Given the description of an element on the screen output the (x, y) to click on. 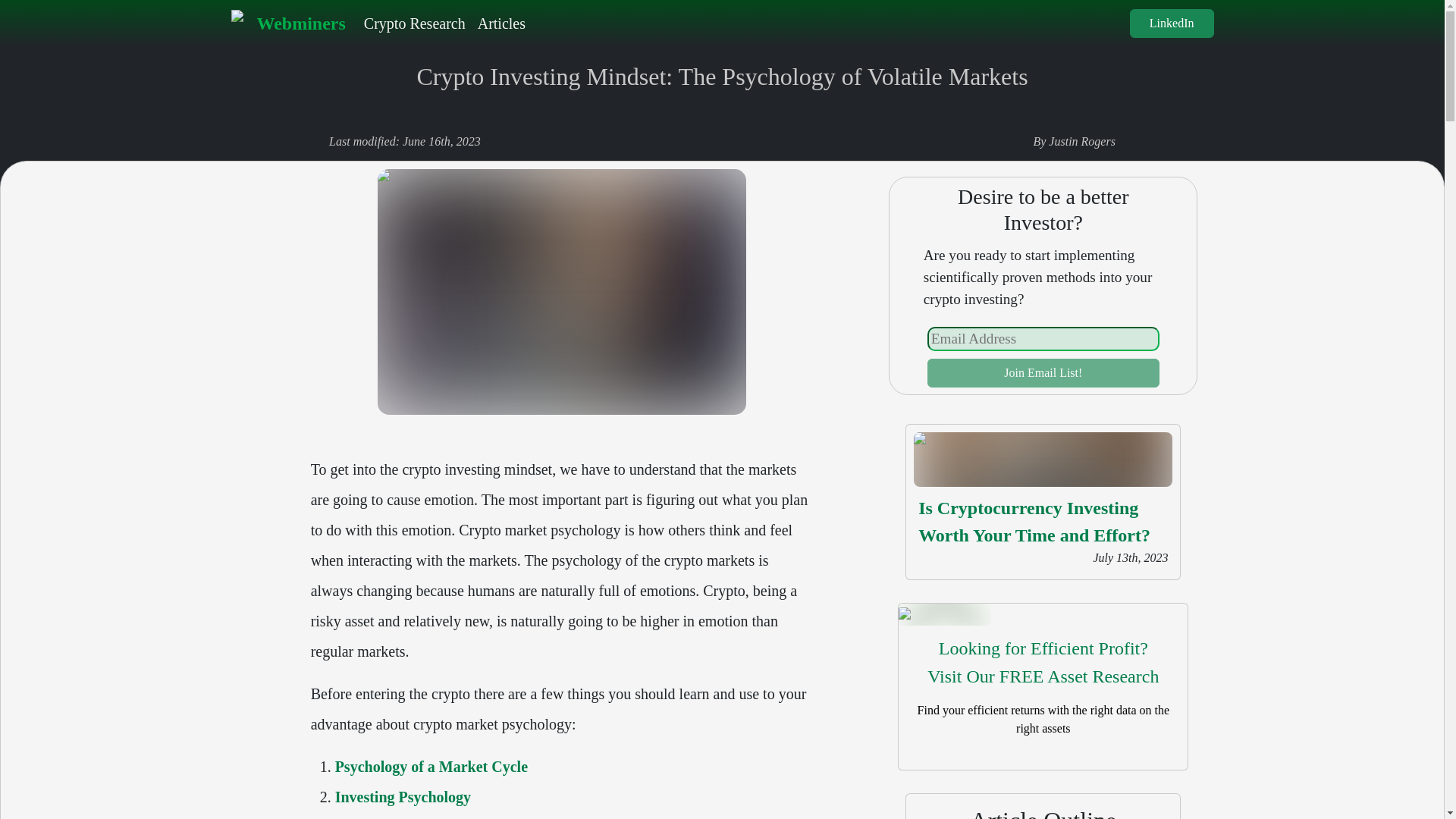
LinkedIn (1171, 23)
Investing Psychology (402, 796)
Join Email List! (1042, 372)
Crypto Research (414, 22)
Articles (501, 22)
Webminers (287, 22)
Psychology of a Market Cycle (430, 766)
Is Cryptocurrency Investing Worth Your Time and Effort? (1034, 521)
